Given the description of an element on the screen output the (x, y) to click on. 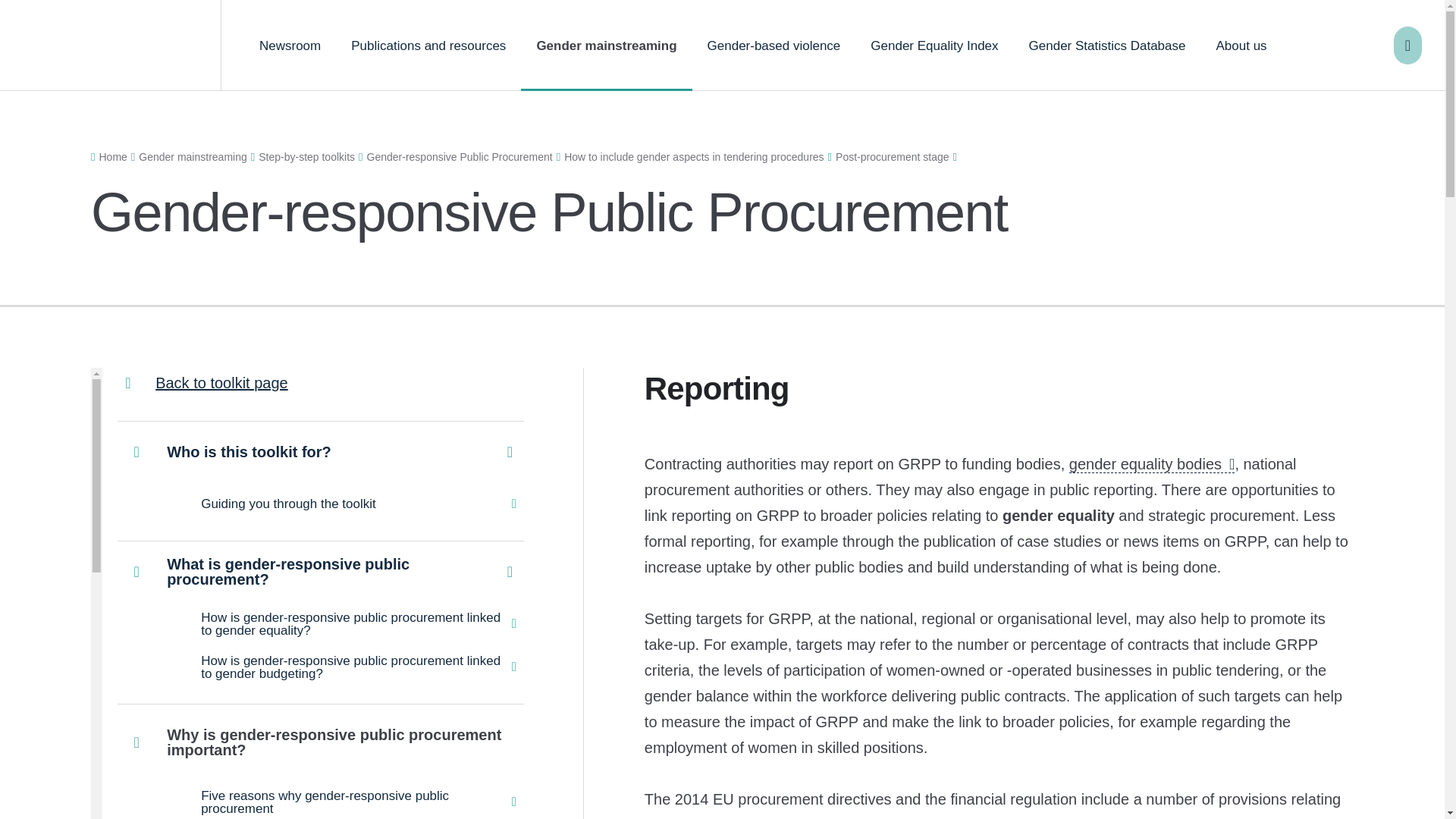
European Institute for Gender Equality (110, 45)
Publications and resources (428, 45)
Gender mainstreaming (606, 45)
Newsroom (290, 45)
